Given the description of an element on the screen output the (x, y) to click on. 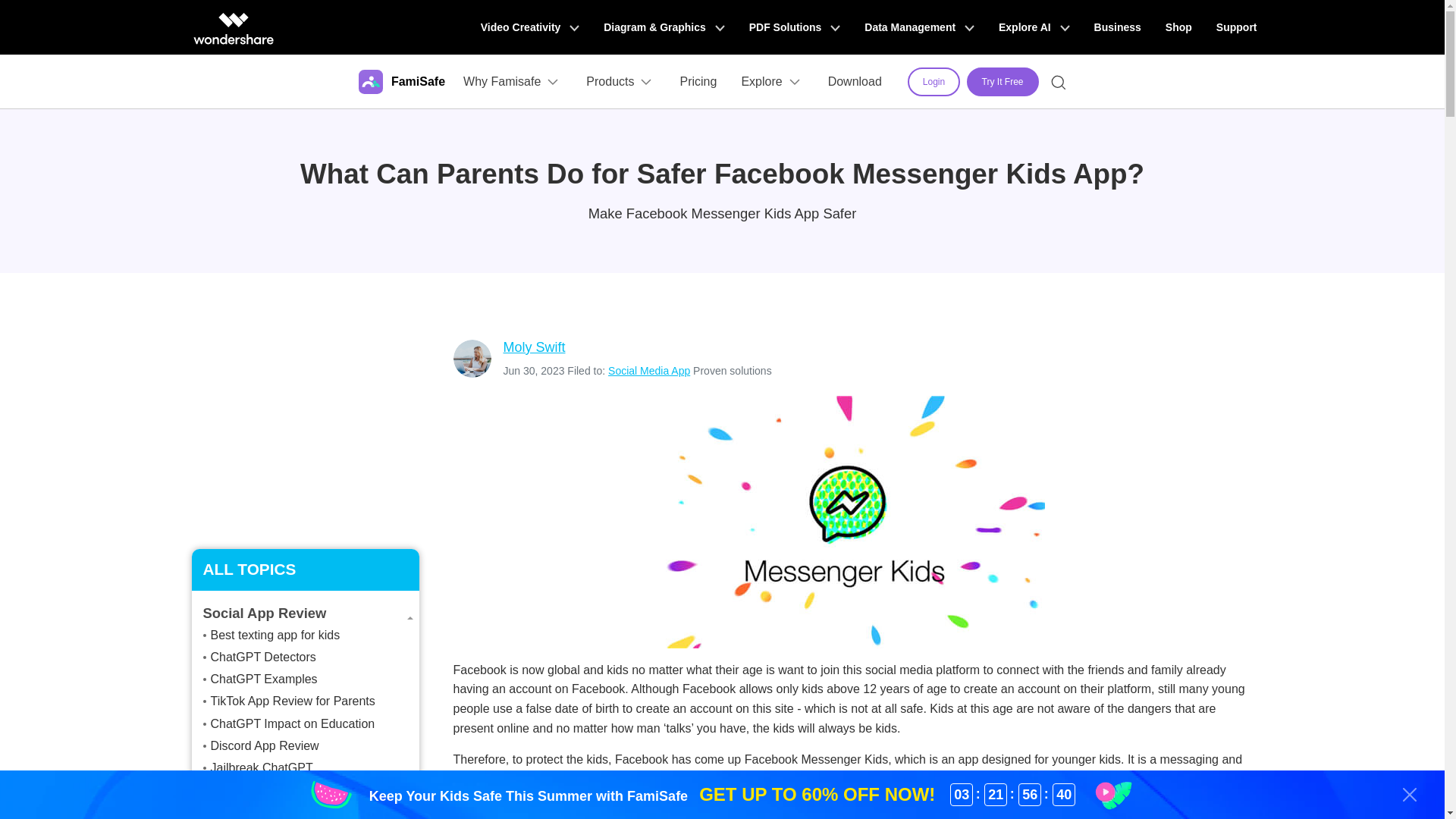
Explore AI (1034, 27)
Data Management (919, 27)
Video Creativity (529, 27)
PDF Solutions (794, 27)
